Given the description of an element on the screen output the (x, y) to click on. 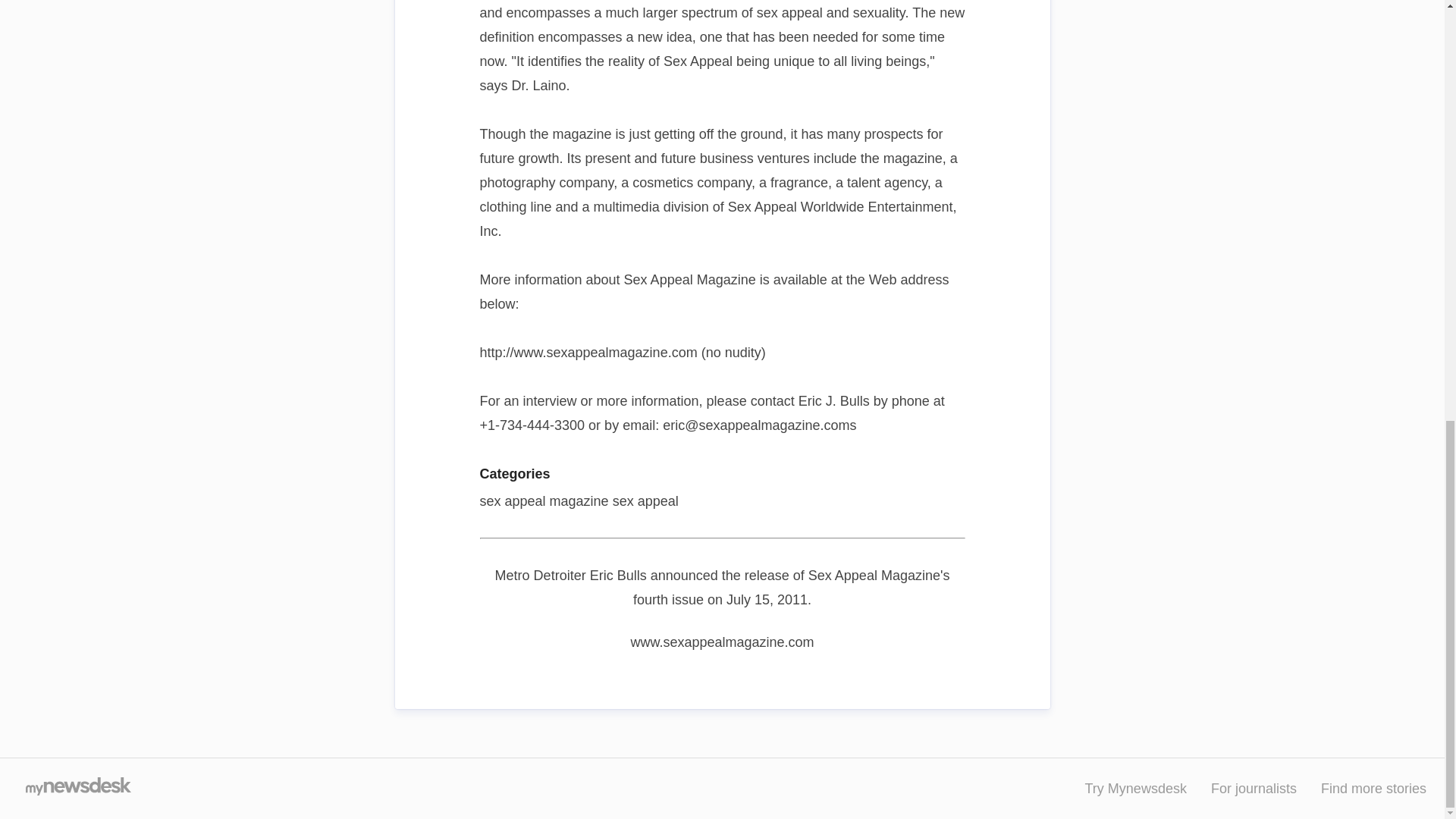
Find more stories (1373, 788)
Try Mynewsdesk (1135, 788)
Mynewsdesk (77, 788)
For journalists (1254, 788)
